Given the description of an element on the screen output the (x, y) to click on. 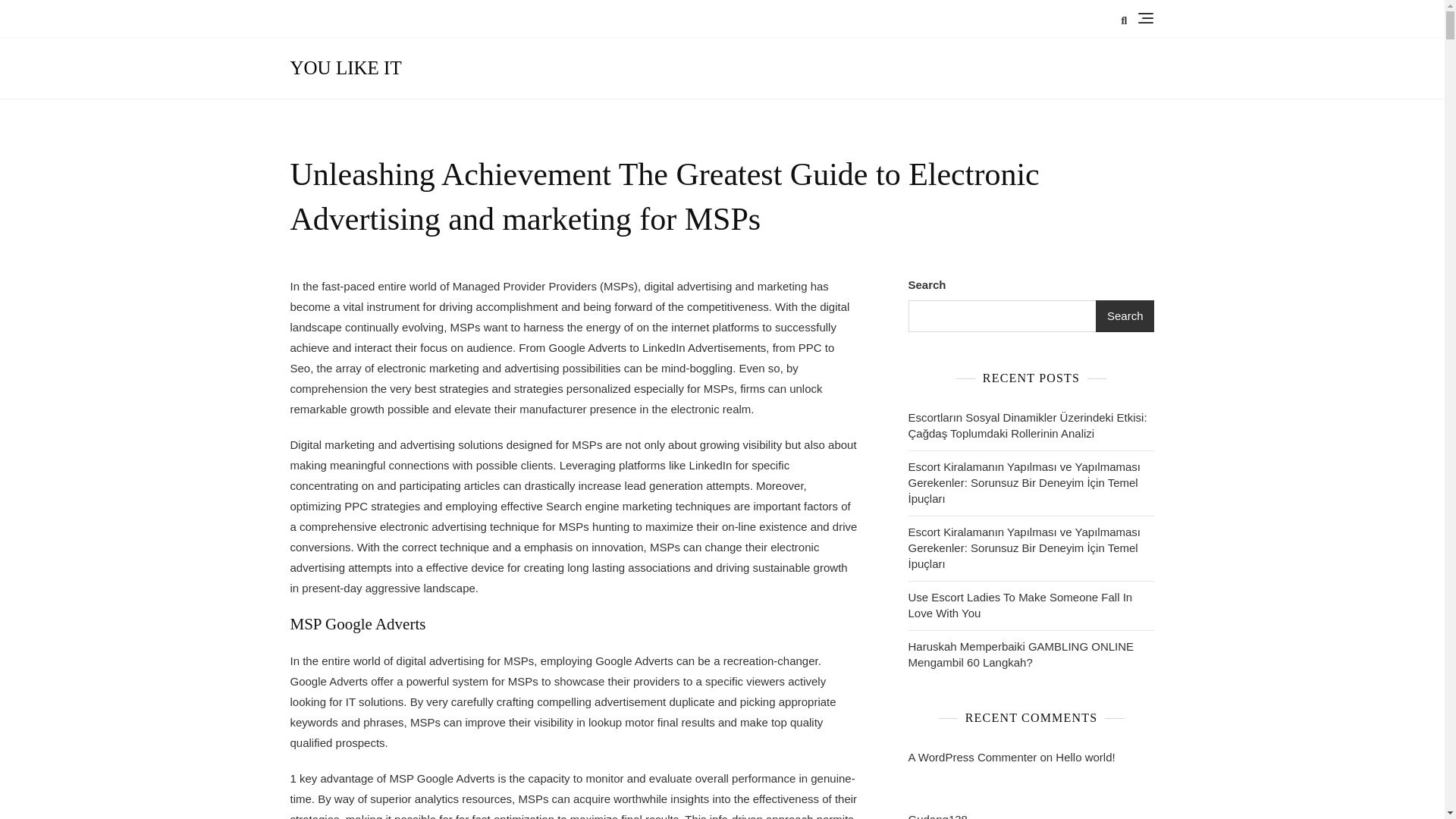
YOU LIKE IT (345, 67)
Search (1125, 316)
Use Escort Ladies To Make Someone Fall In Love With You (1031, 604)
